Given the description of an element on the screen output the (x, y) to click on. 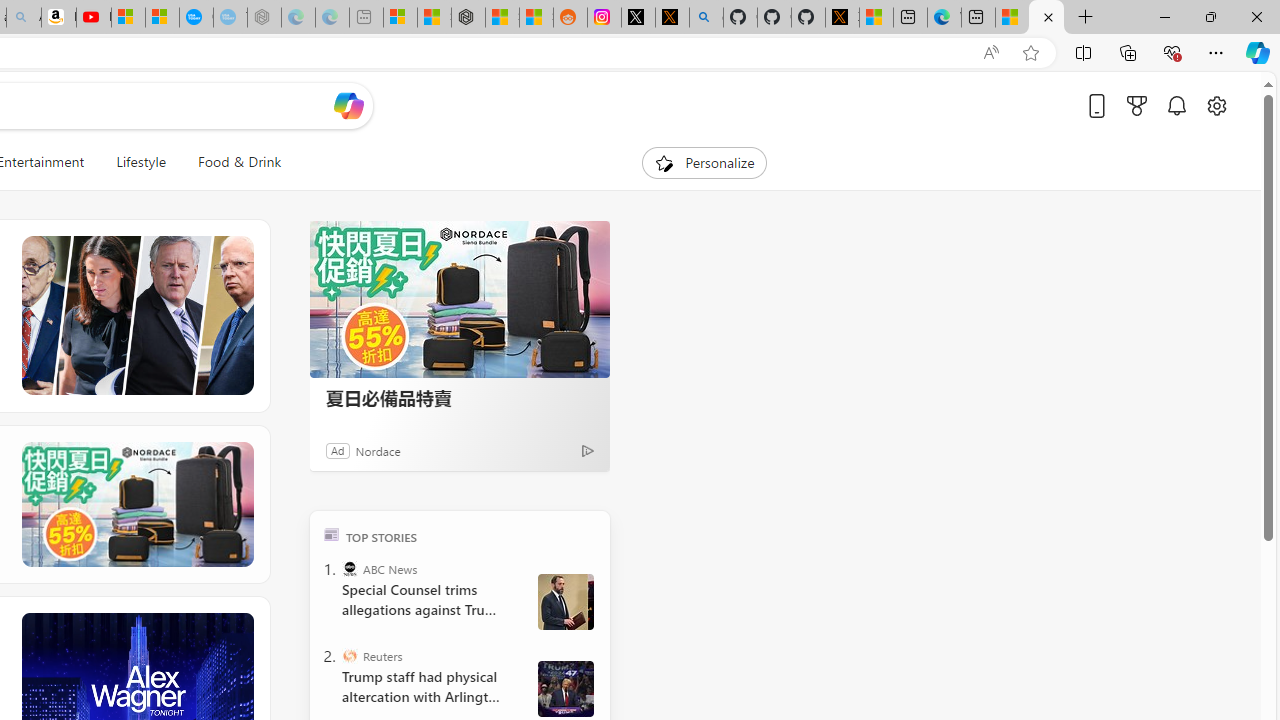
github - Search (706, 17)
TOP (331, 534)
The most popular Google 'how to' searches - Sleeping (230, 17)
Reuters (349, 655)
